Given the description of an element on the screen output the (x, y) to click on. 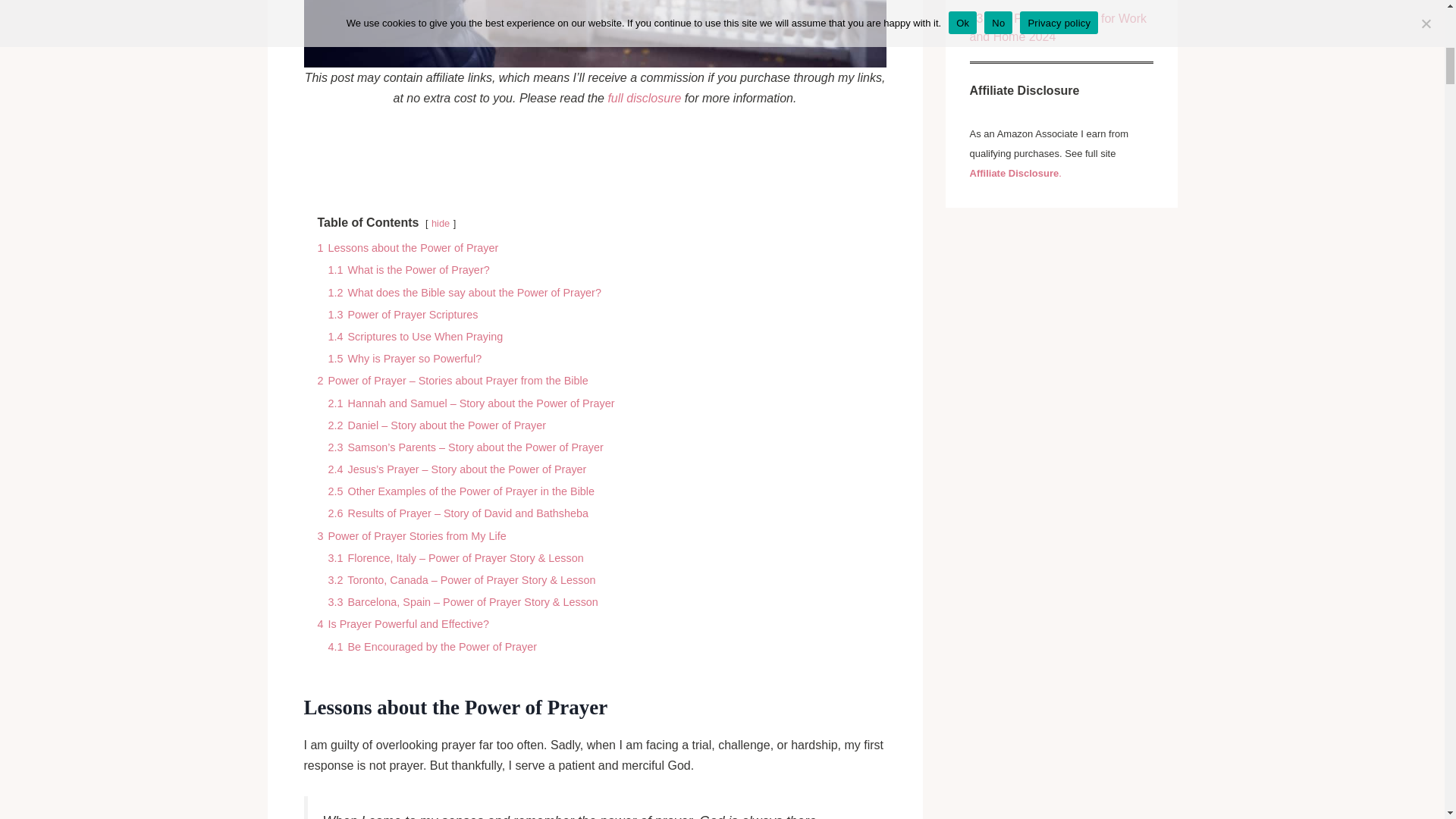
1.1 What is the Power of Prayer? (408, 269)
full disclosure (644, 97)
hide (439, 223)
1 Lessons about the Power of Prayer (407, 247)
